Given the description of an element on the screen output the (x, y) to click on. 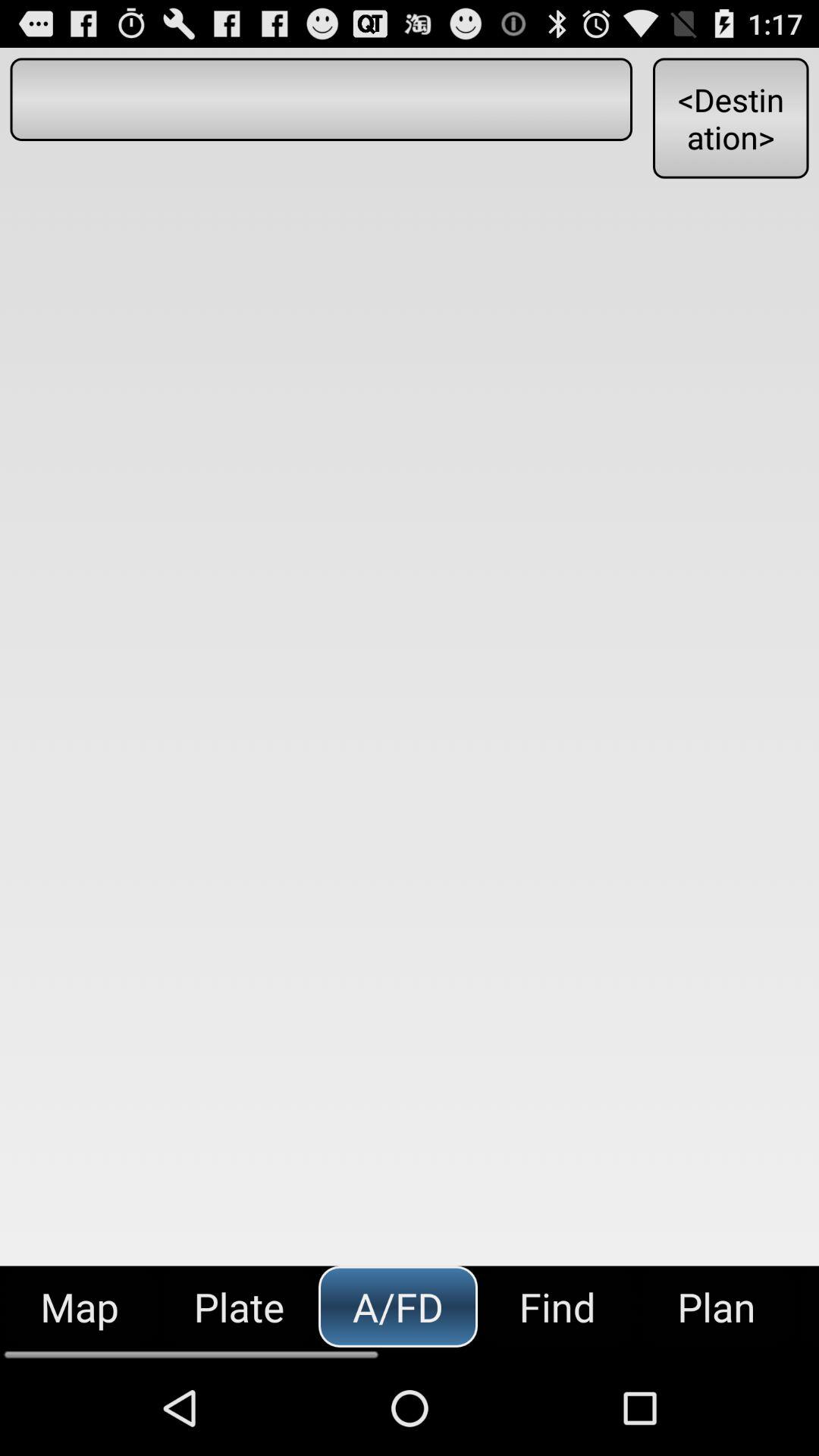
tap <destination> (730, 118)
